Given the description of an element on the screen output the (x, y) to click on. 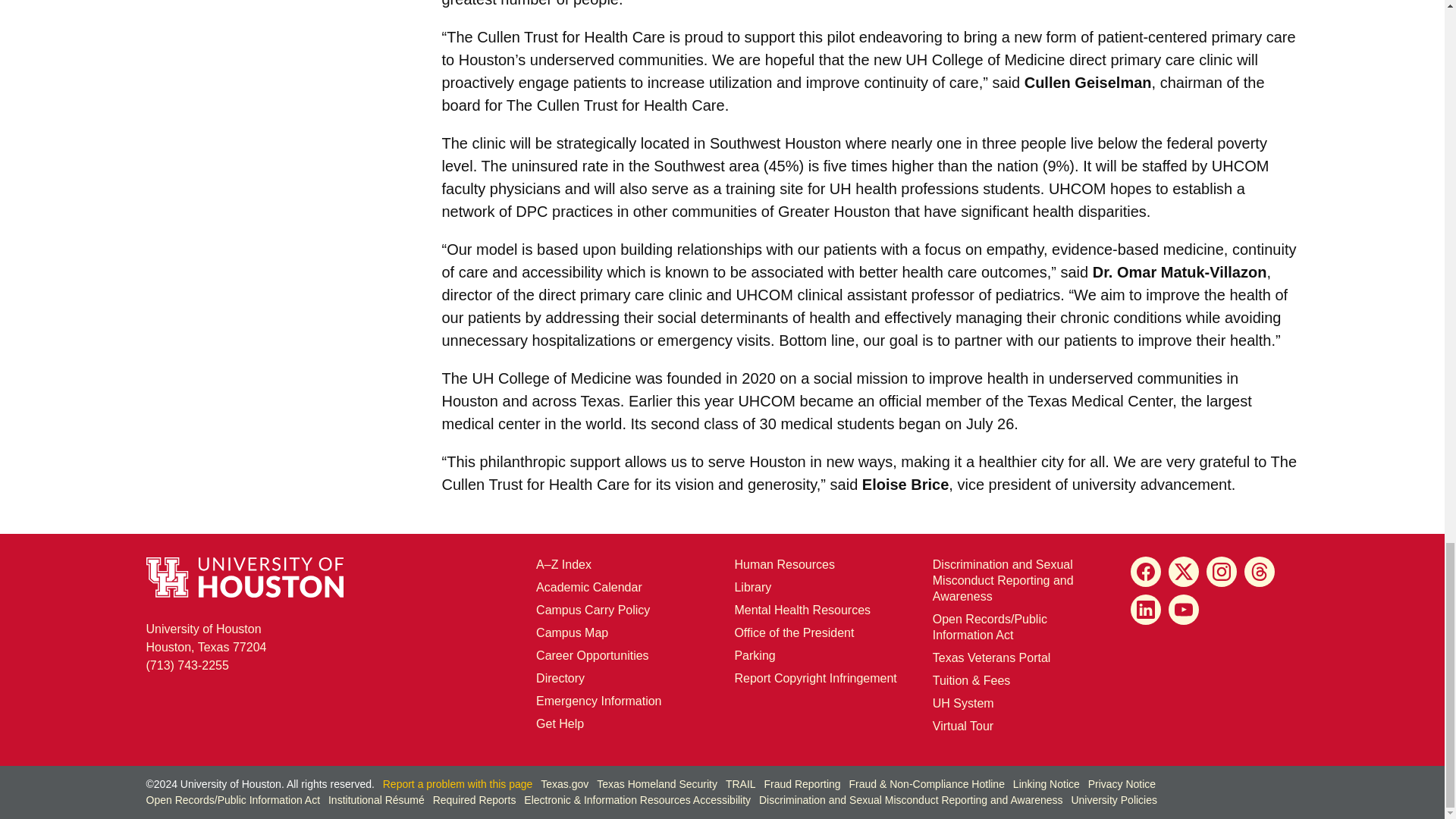
University of Houston (916, 59)
